Given the description of an element on the screen output the (x, y) to click on. 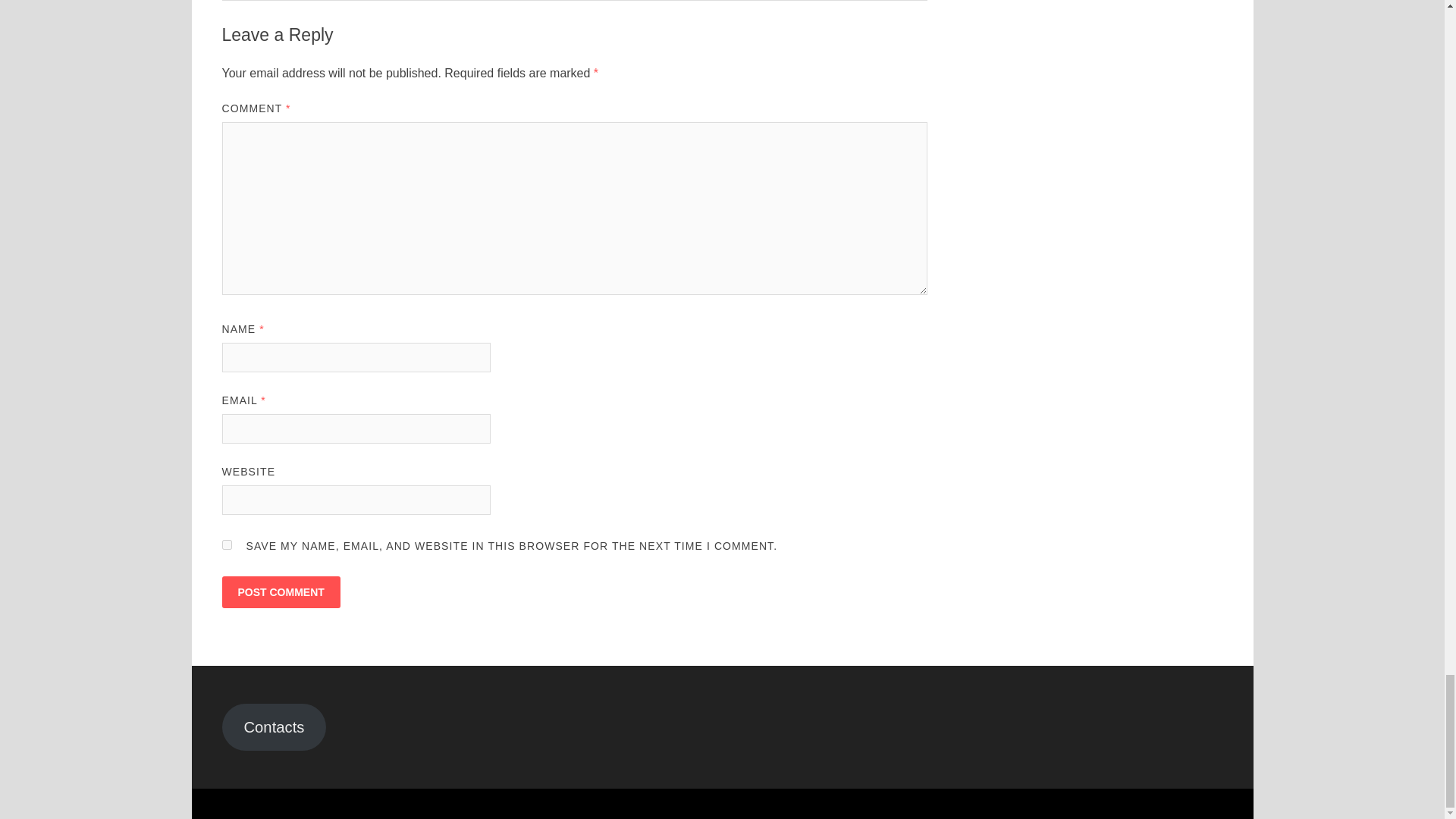
Post Comment (280, 592)
yes (226, 544)
Post Comment (280, 592)
